Given the description of an element on the screen output the (x, y) to click on. 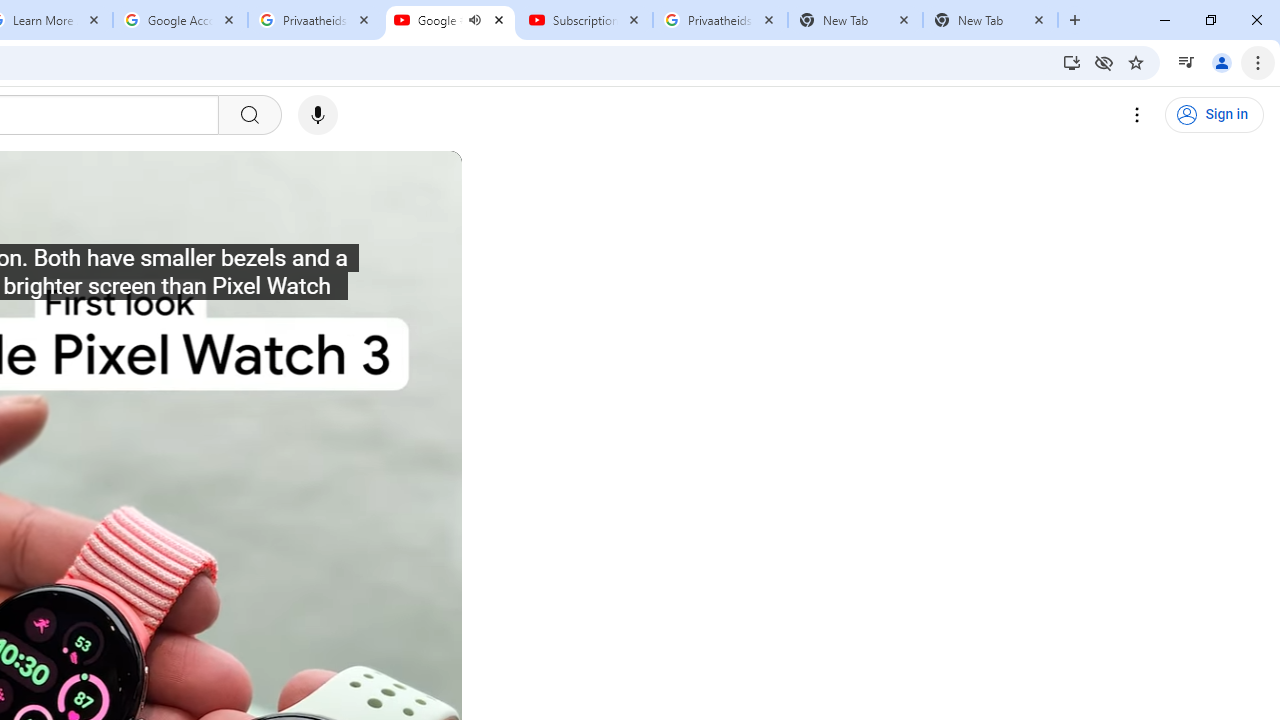
Search with your voice (317, 115)
Subscriptions - YouTube (585, 20)
Install YouTube (1071, 62)
